Given the description of an element on the screen output the (x, y) to click on. 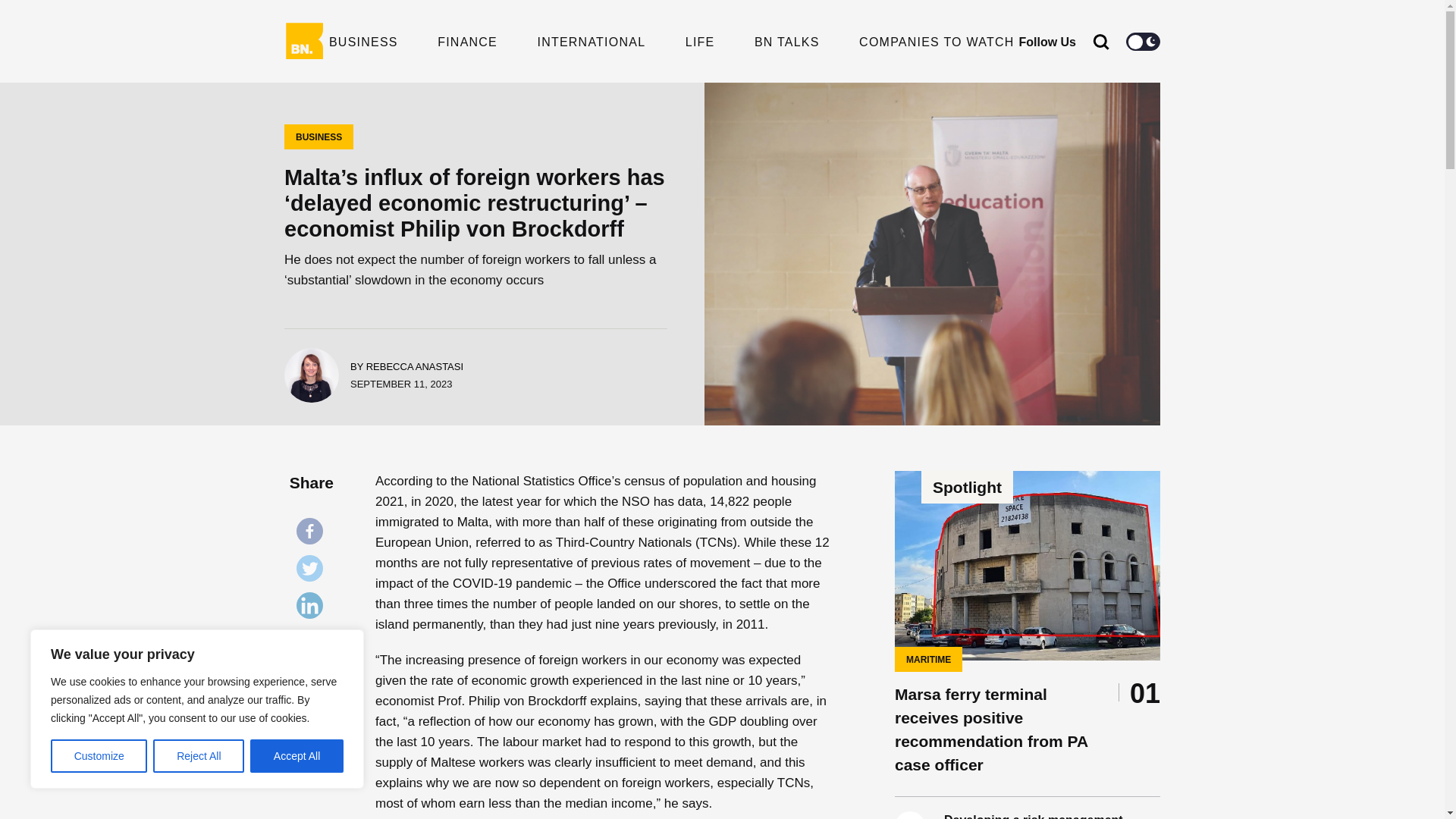
COMPANIES TO WATCH (936, 41)
BUSINESS (318, 136)
Linkedin (313, 609)
BUSINESS (363, 41)
Customize (98, 756)
Facebook (313, 534)
LIFE (699, 41)
Twitter (313, 571)
INTERNATIONAL (591, 41)
FINANCE (467, 41)
BN TALKS (786, 41)
Reject All (198, 756)
Accept All (296, 756)
